Given the description of an element on the screen output the (x, y) to click on. 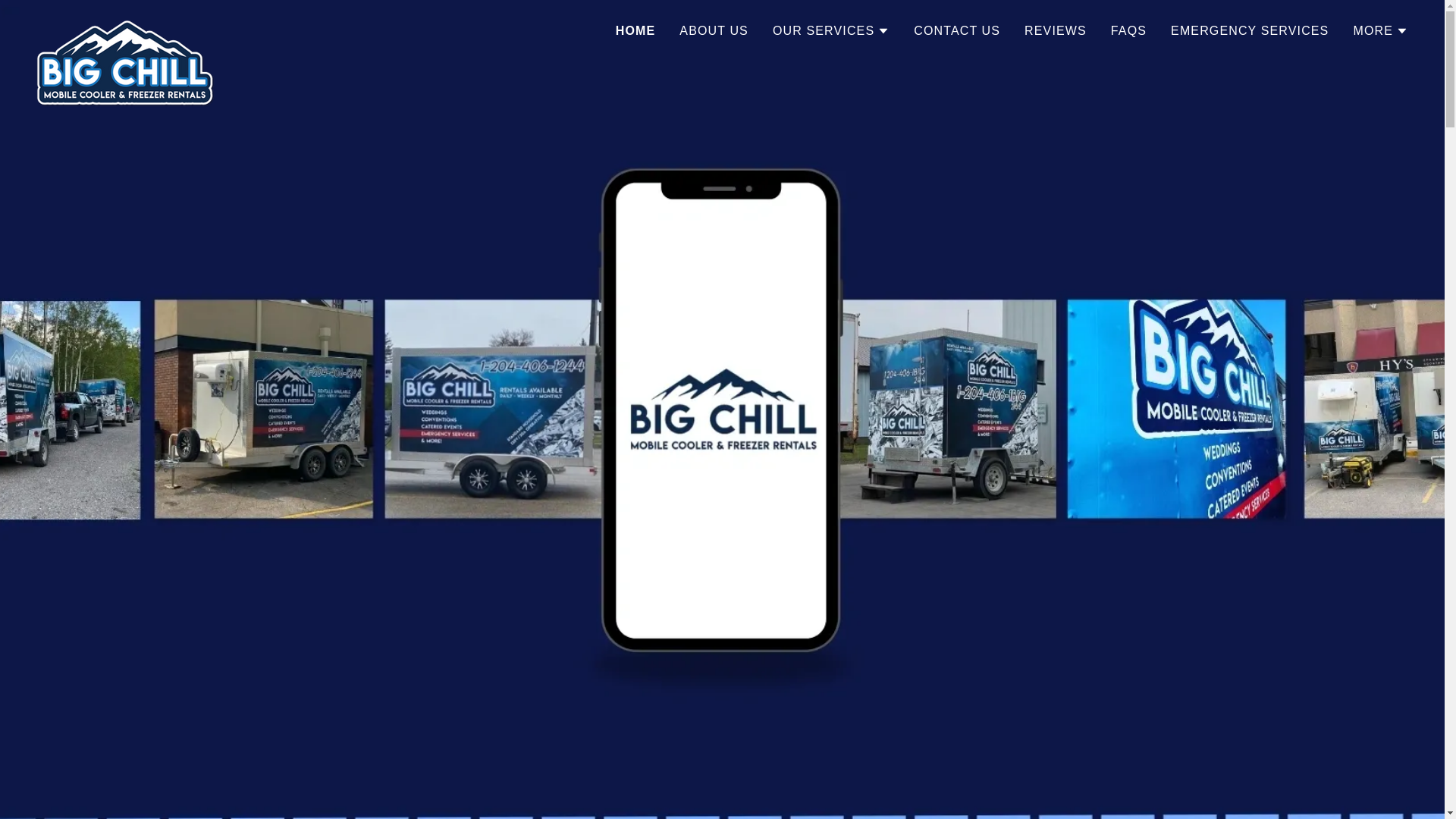
EMERGENCY SERVICES Element type: text (1249, 30)
OUR SERVICES Element type: text (830, 30)
ABOUT US Element type: text (713, 30)
HOME Element type: text (635, 30)
FAQS Element type: text (1128, 30)
Big Chill Mobile Cooler & Freezer Rentals Element type: hover (125, 26)
CONTACT US Element type: text (956, 30)
MORE Element type: text (1380, 30)
REVIEWS Element type: text (1055, 30)
